Given the description of an element on the screen output the (x, y) to click on. 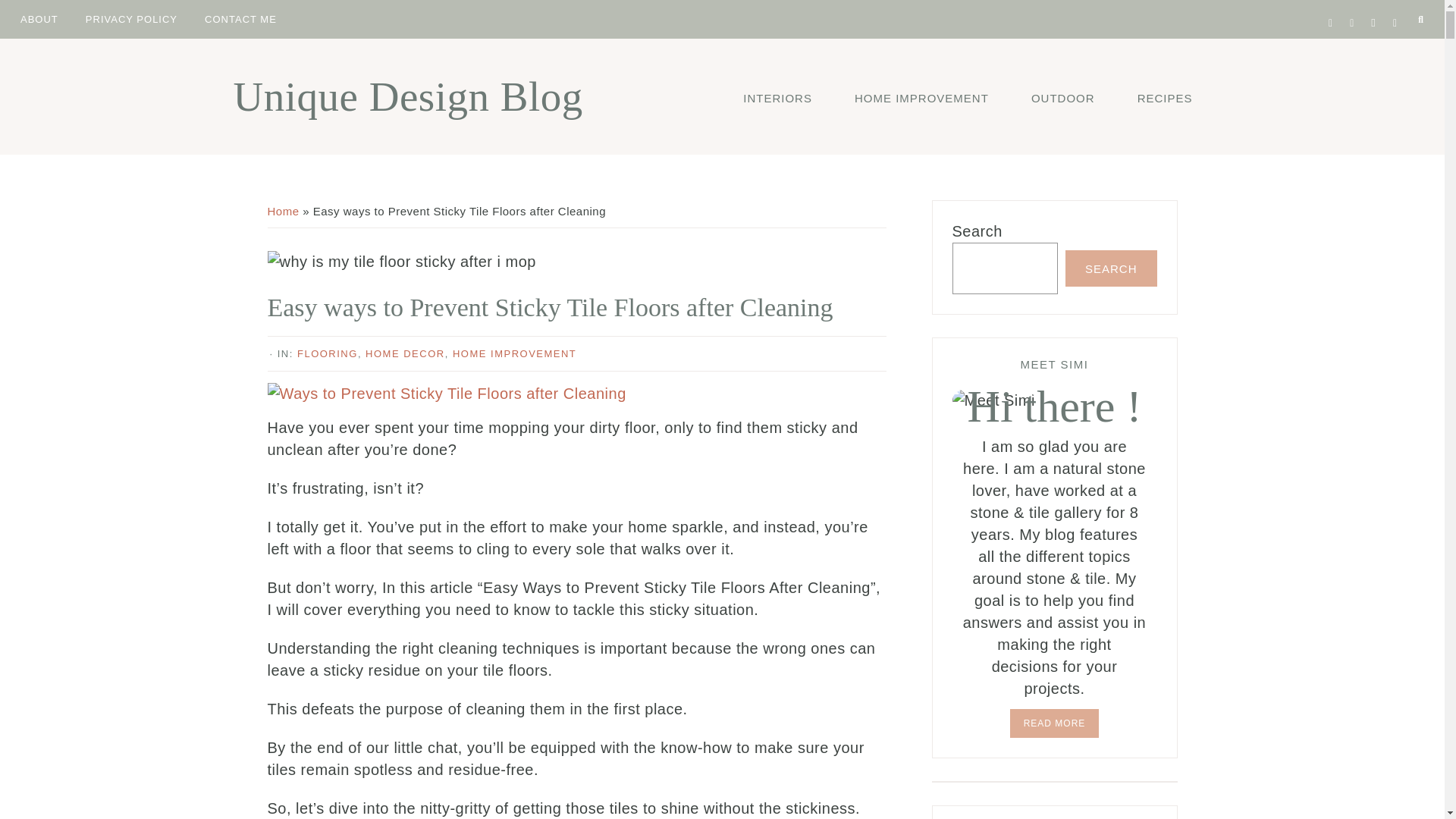
ABOUT (38, 18)
HOME IMPROVEMENT (921, 96)
Unique Design Blog (407, 96)
HOME DECOR (405, 353)
CONTACT ME (240, 18)
HOME IMPROVEMENT (514, 353)
OUTDOOR (1062, 96)
FLOORING (327, 353)
INTERIORS (777, 96)
Home (282, 210)
PRIVACY POLICY (131, 18)
RECIPES (1164, 96)
